Given the description of an element on the screen output the (x, y) to click on. 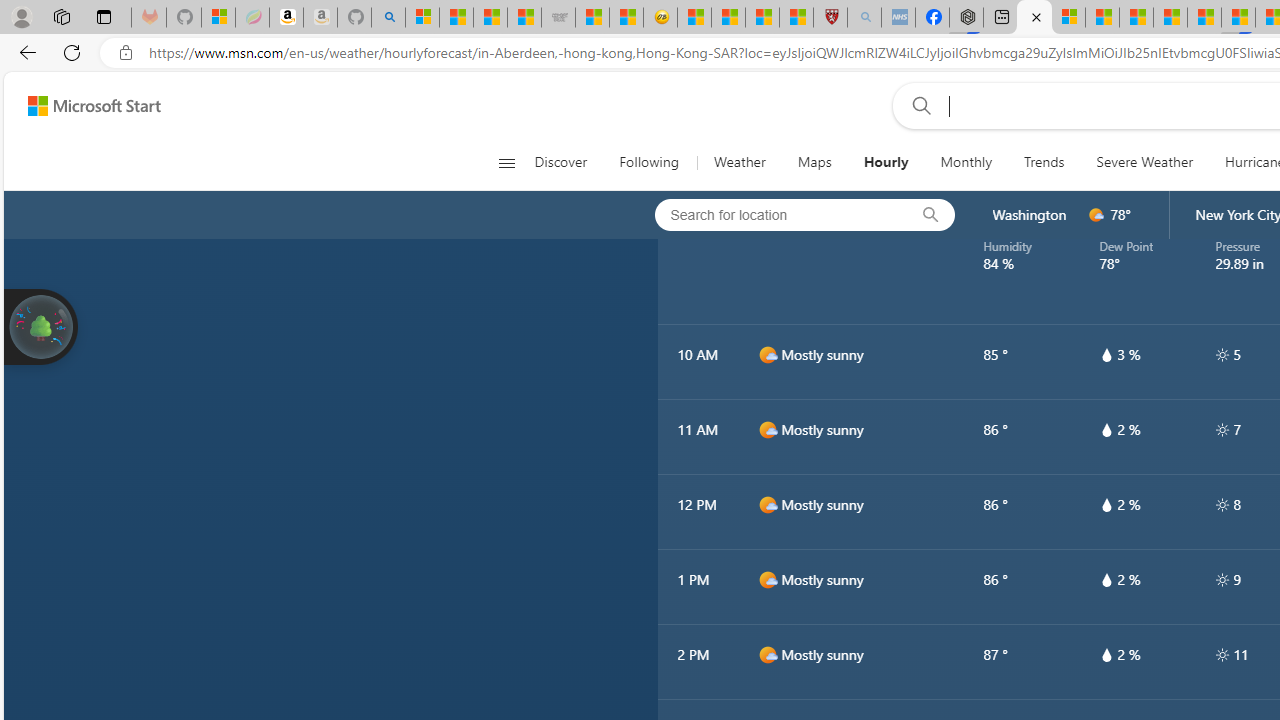
hourlyTable/drop (1106, 654)
Maps (814, 162)
hourlyTable/uv (1222, 654)
Maps (813, 162)
Severe Weather (1144, 162)
Monthly (966, 162)
